Given the description of an element on the screen output the (x, y) to click on. 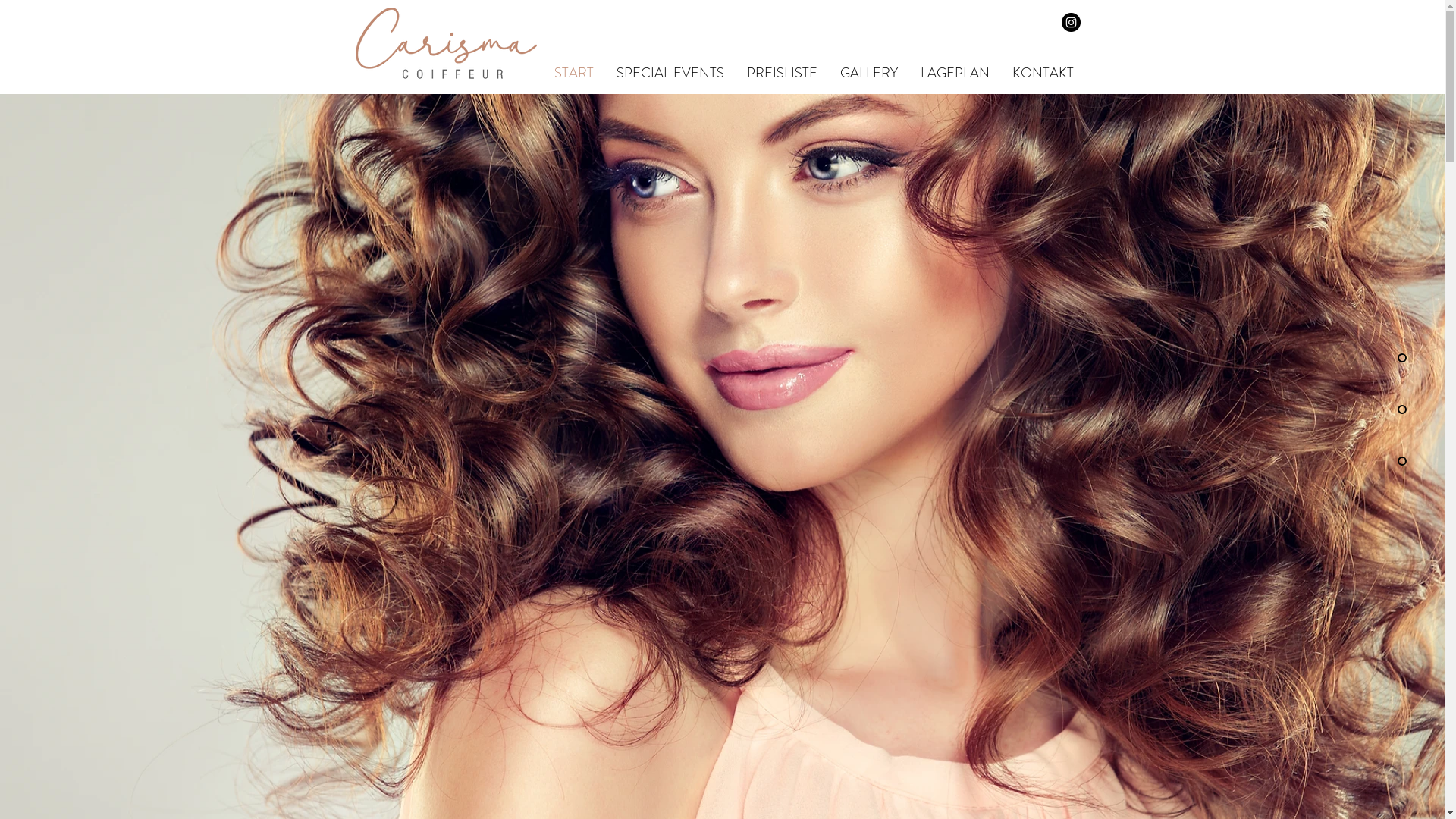
LAGEPLAN Element type: text (954, 73)
START Element type: text (573, 73)
KONTAKT Element type: text (1043, 73)
PREISLISTE Element type: text (781, 73)
SPECIAL EVENTS Element type: text (670, 73)
